Given the description of an element on the screen output the (x, y) to click on. 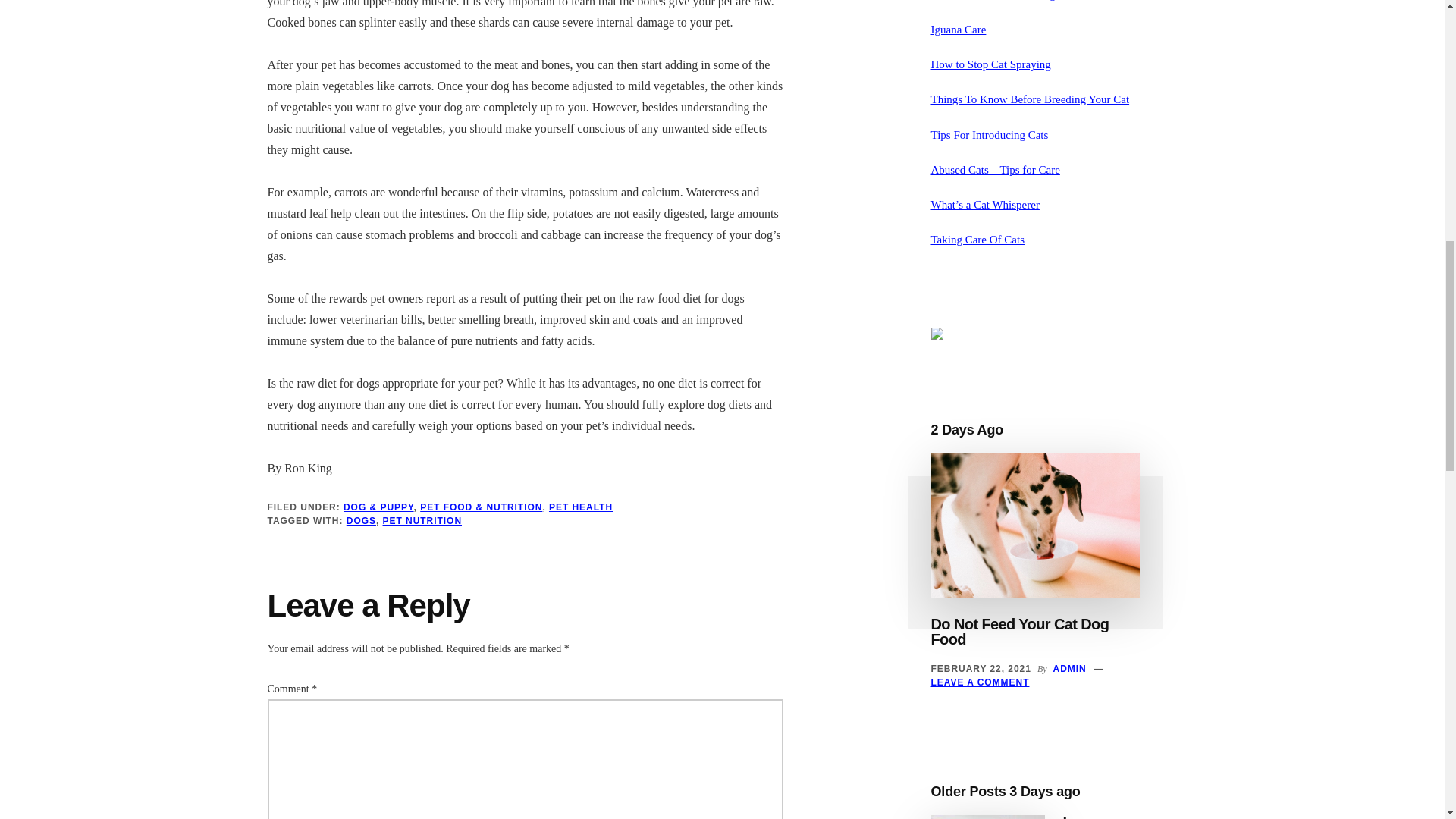
Iguana Care (959, 29)
PET HEALTH (580, 507)
Things To Know Before Breeding Your Cat (1030, 99)
Tips For Introducing Cats (989, 134)
ADMIN (1069, 668)
How to Stop Cat Spraying (991, 64)
DOGS (360, 520)
Taking Care Of Cats (978, 239)
Do Not Feed Your Cat Dog Food (1020, 631)
LEAVE A COMMENT (980, 682)
Iguana Care (1085, 816)
PET NUTRITION (421, 520)
